Given the description of an element on the screen output the (x, y) to click on. 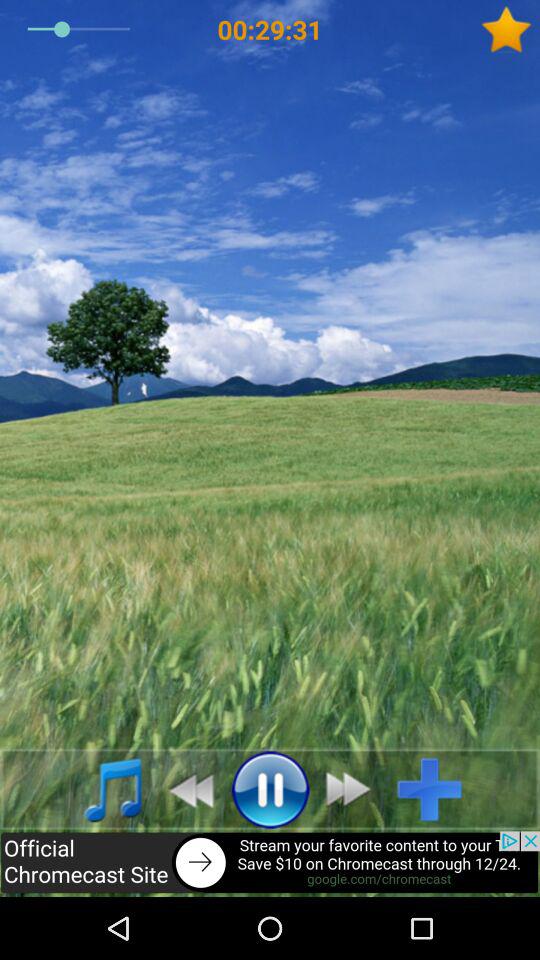
show playlist (102, 789)
